Given the description of an element on the screen output the (x, y) to click on. 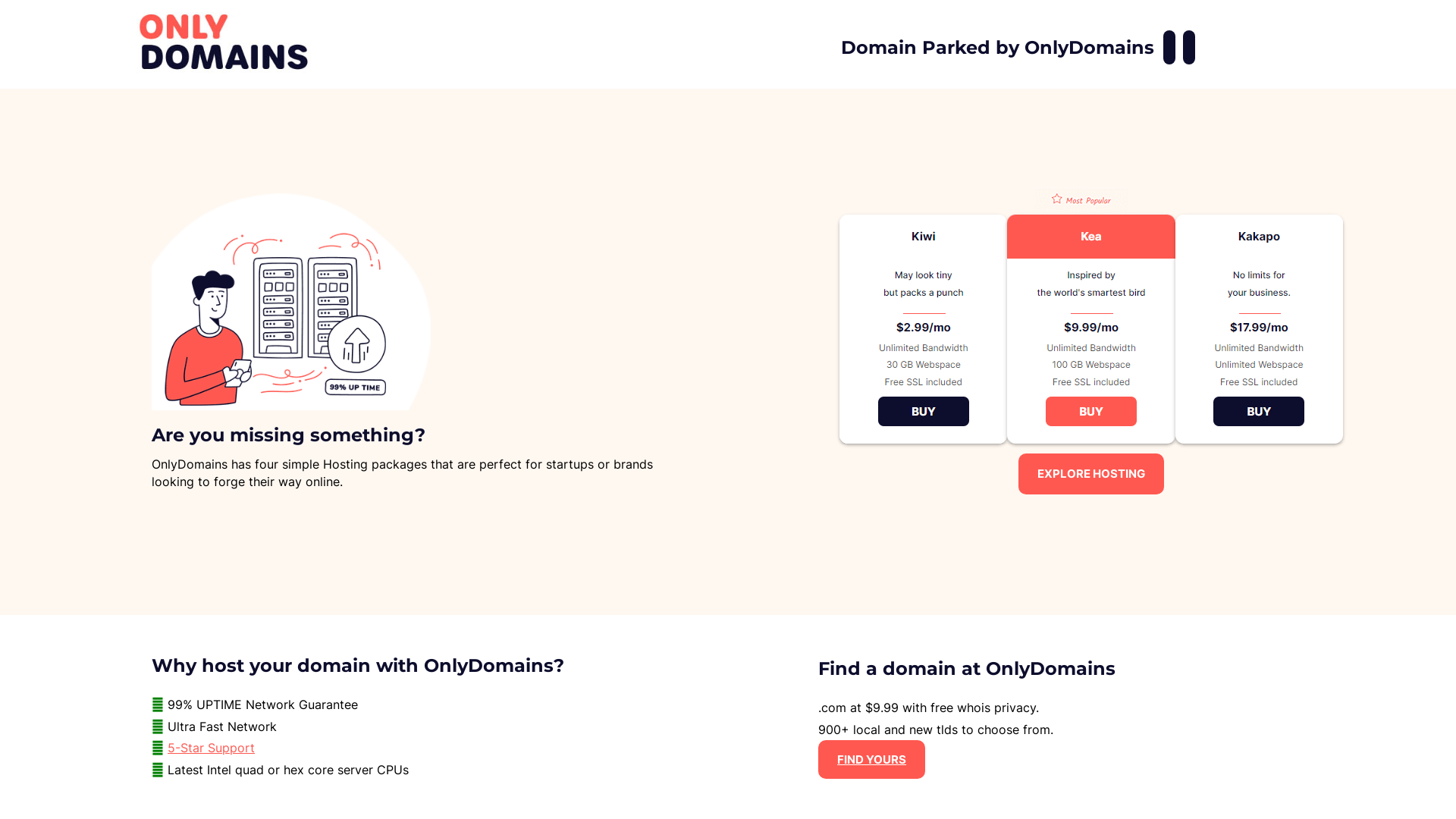
FIND YOURS Element type: text (871, 759)
EXPLORE HOSTING Element type: text (1091, 473)
OnlyDomains Facebook Element type: hover (1169, 47)
OnlyDomains Twitter Element type: hover (1188, 47)
5-Star Support Element type: text (210, 747)
